Given the description of an element on the screen output the (x, y) to click on. 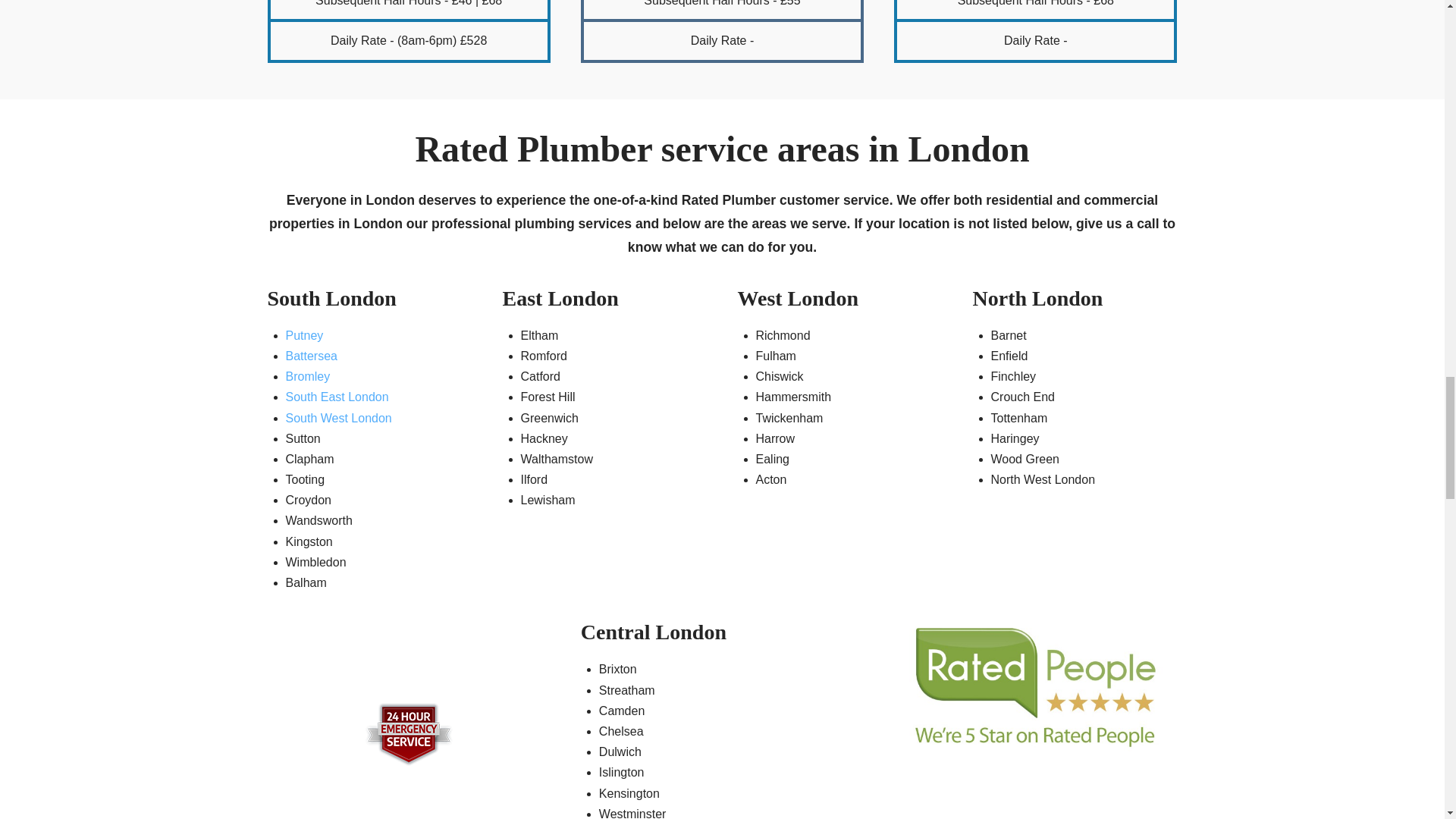
Putney (304, 335)
